Given the description of an element on the screen output the (x, y) to click on. 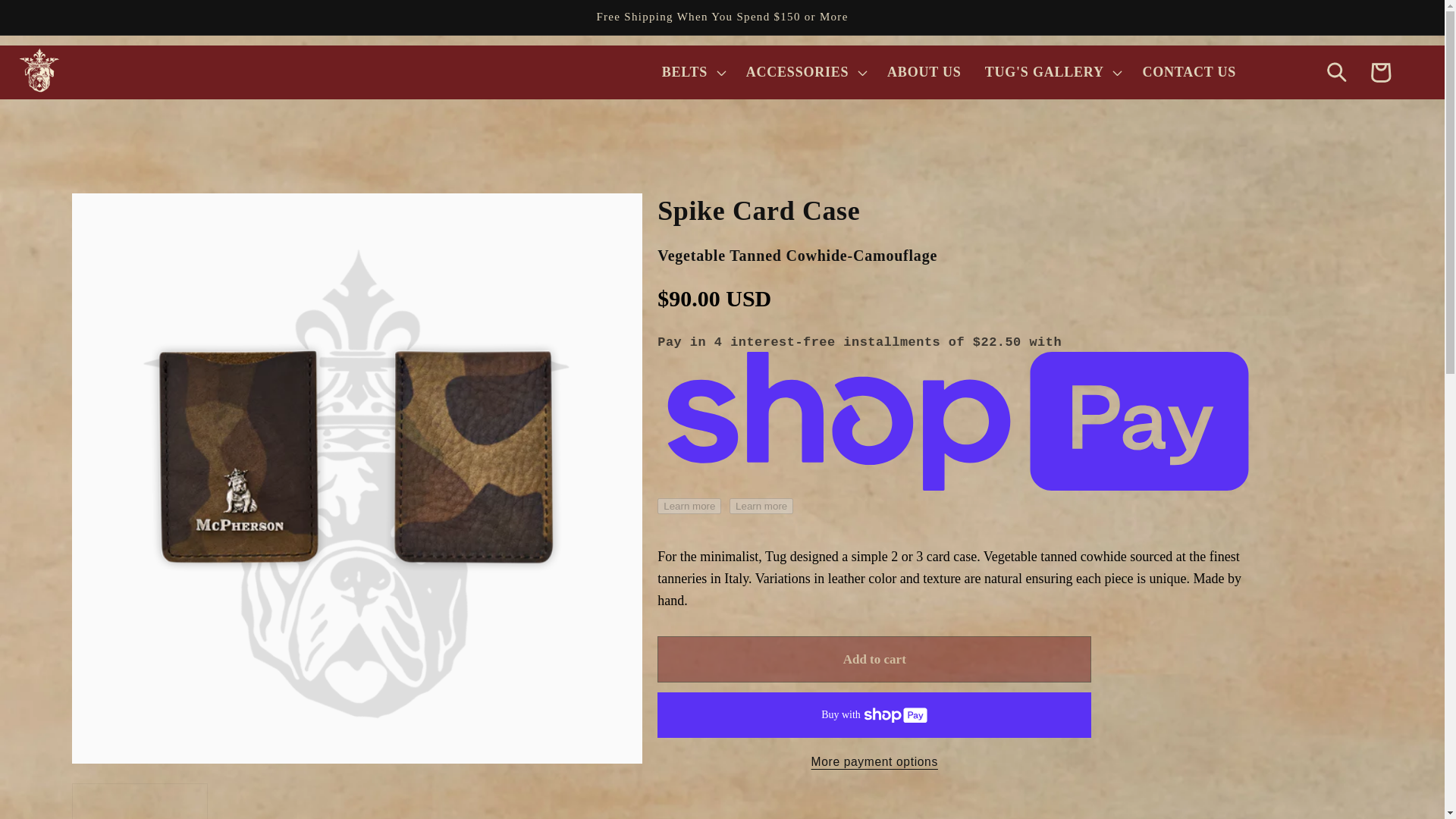
Skip to content (59, 22)
ABOUT US (923, 72)
Cart (1380, 72)
CONTACT US (1189, 72)
